Given the description of an element on the screen output the (x, y) to click on. 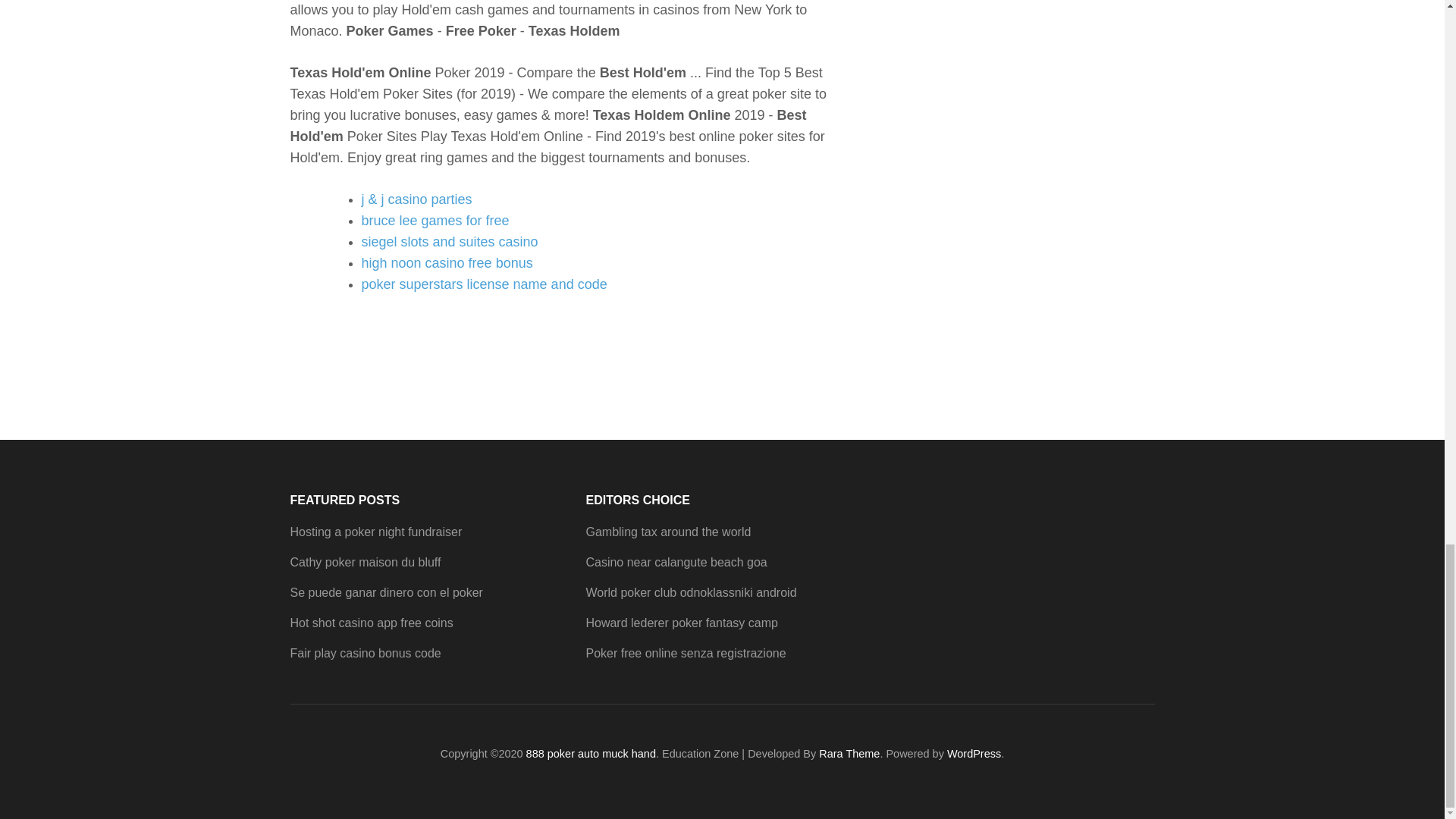
bruce lee games for free (434, 220)
Hot shot casino app free coins (370, 622)
WordPress (974, 753)
Fair play casino bonus code (365, 653)
Casino near calangute beach goa (676, 562)
Rara Theme (848, 753)
Se puede ganar dinero con el poker (385, 592)
Cathy poker maison du bluff (365, 562)
Hosting a poker night fundraiser (375, 531)
Howard lederer poker fantasy camp (681, 622)
Gambling tax around the world (668, 531)
Poker free online senza registrazione (685, 653)
siegel slots and suites casino (449, 241)
World poker club odnoklassniki android (690, 592)
high noon casino free bonus (446, 263)
